Given the description of an element on the screen output the (x, y) to click on. 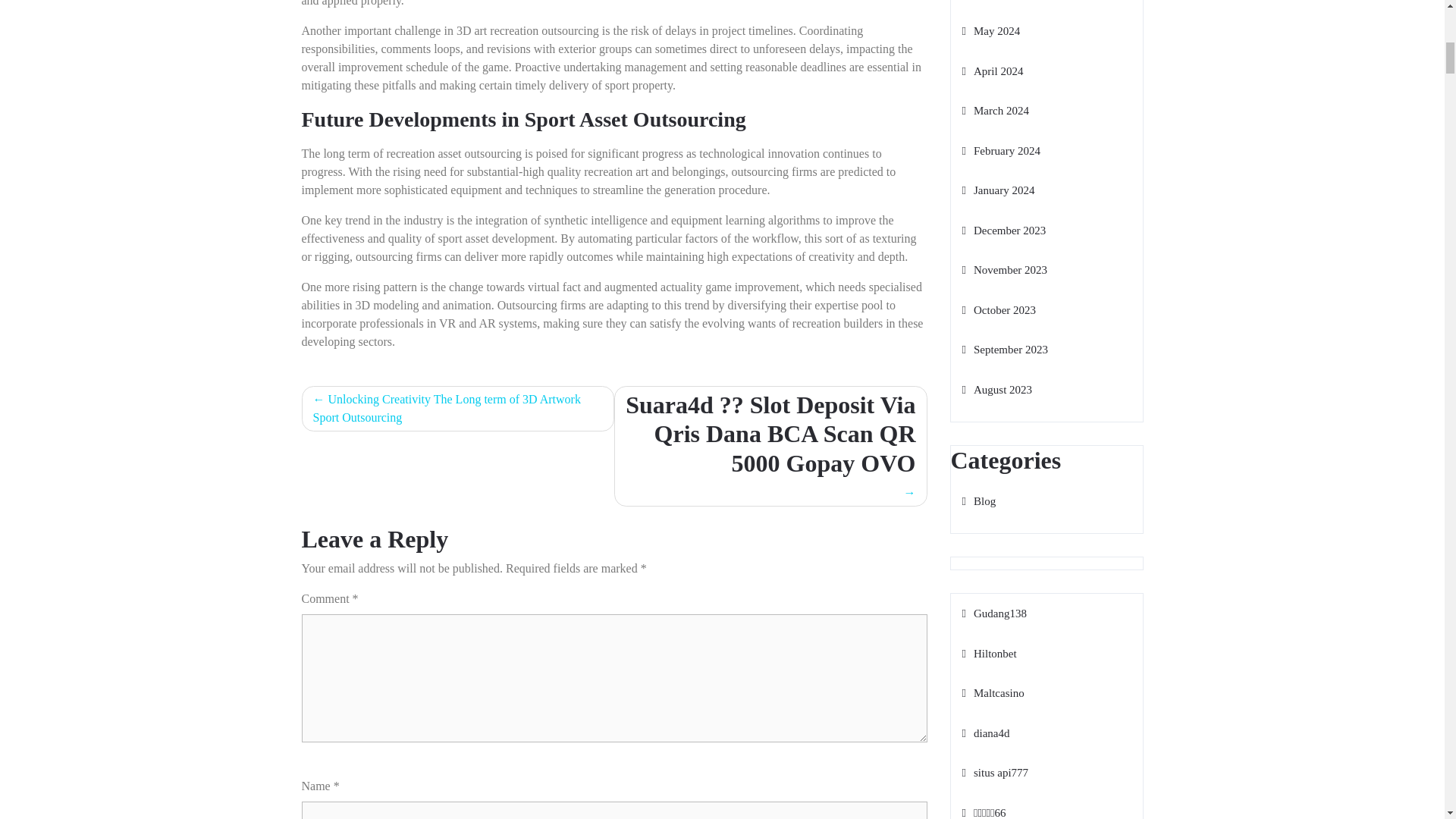
November 2023 (1003, 269)
August 2023 (996, 389)
Hiltonbet (988, 653)
situs api777 (993, 772)
December 2023 (1002, 230)
Gudang138 (993, 613)
Maltcasino (991, 693)
March 2024 (993, 110)
April 2024 (991, 70)
January 2024 (996, 190)
October 2023 (997, 309)
September 2023 (1003, 349)
May 2024 (990, 30)
February 2024 (999, 150)
